Given the description of an element on the screen output the (x, y) to click on. 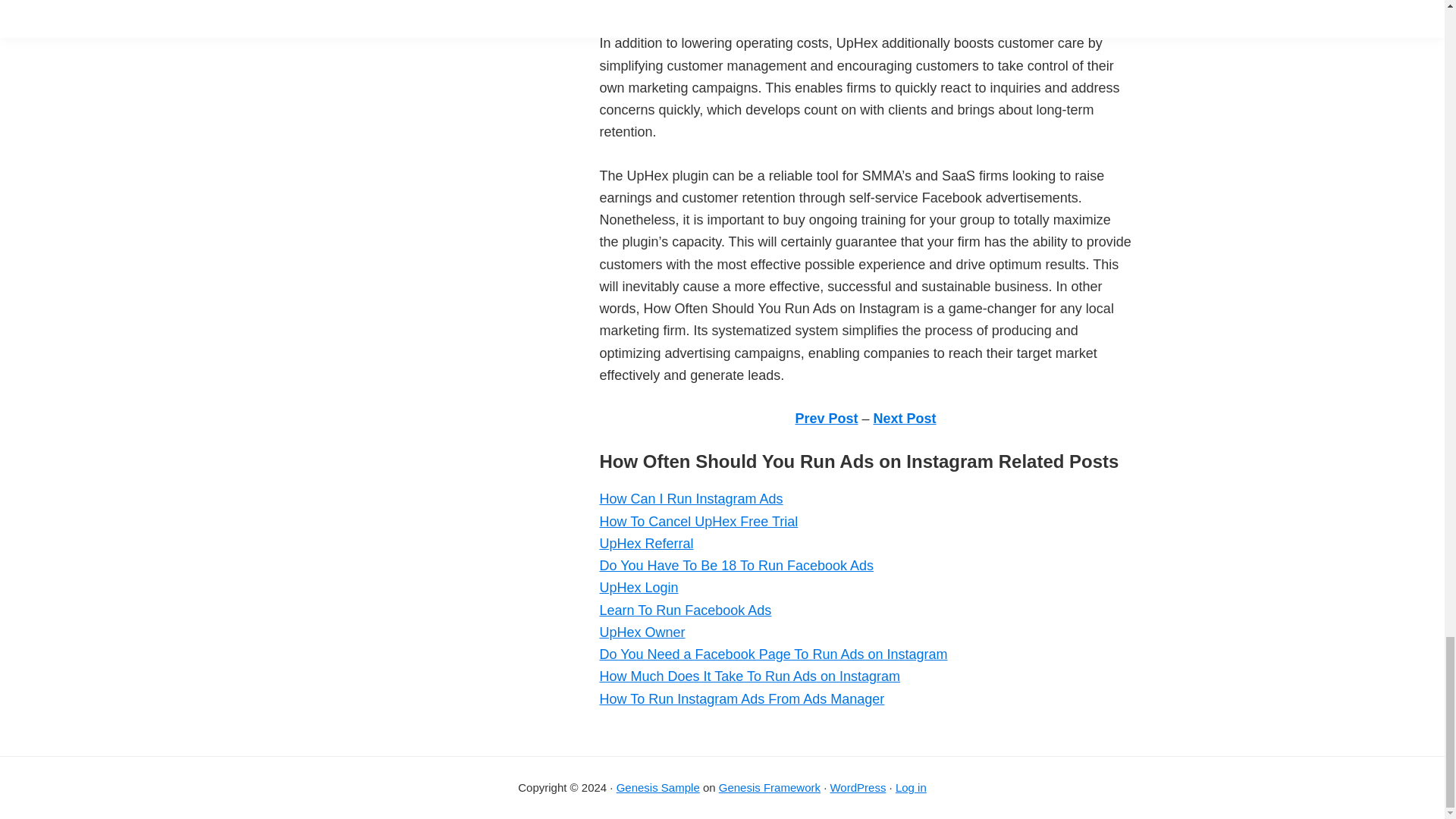
Genesis Sample (657, 787)
Do You Have To Be 18 To Run Facebook Ads (735, 565)
How Can I Run Instagram Ads (690, 498)
How Much Does It Take To Run Ads on Instagram (748, 676)
WordPress (857, 787)
Genesis Framework (770, 787)
How Can I Run Instagram Ads (690, 498)
UpHex Referral (645, 543)
How To Cancel UpHex Free Trial (697, 521)
Prev Post (825, 418)
How To Run Instagram Ads From Ads Manager (740, 698)
Next Post (904, 418)
UpHex Owner (641, 631)
Learn To Run Facebook Ads (684, 609)
UpHex Referral (645, 543)
